Given the description of an element on the screen output the (x, y) to click on. 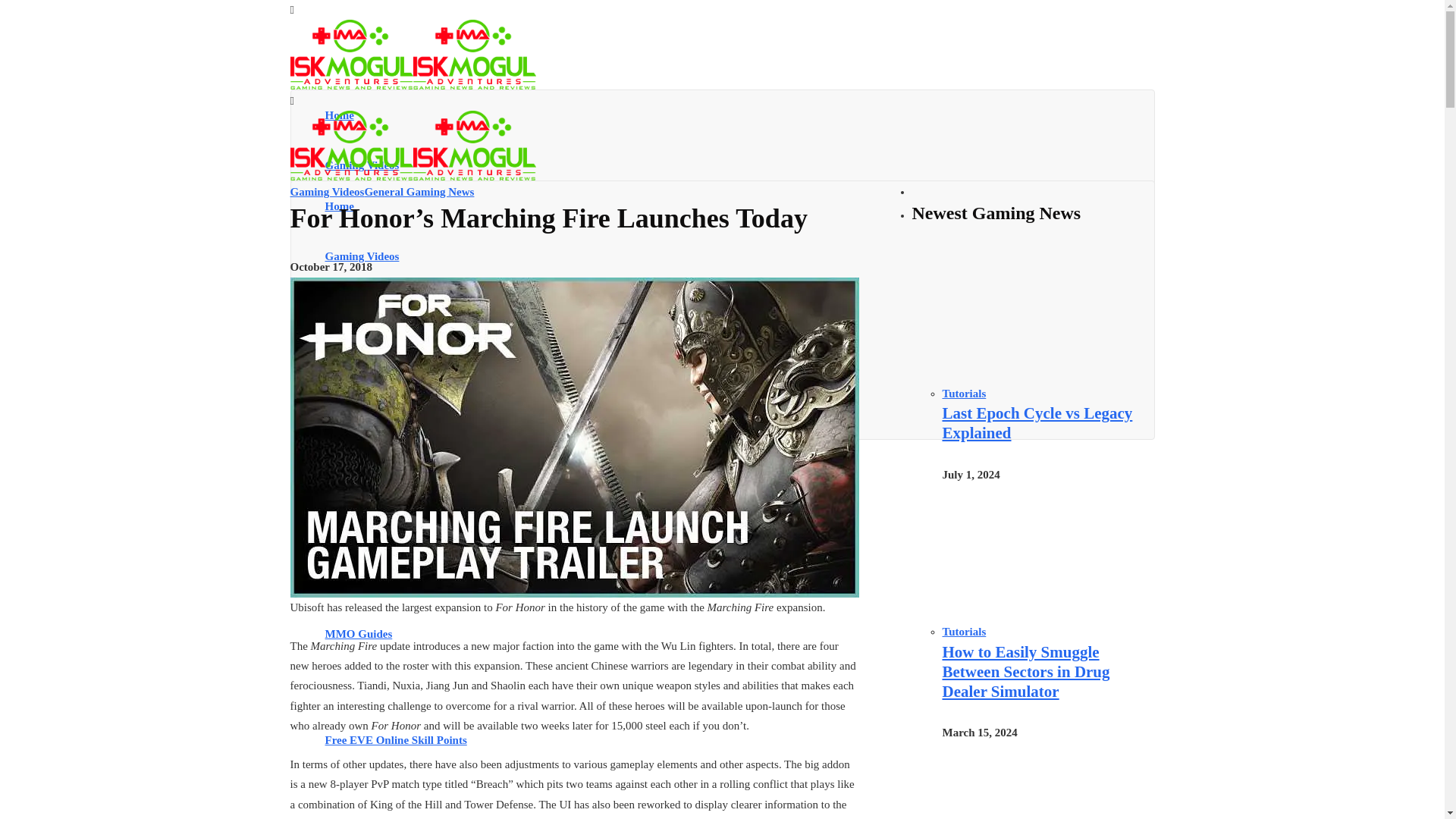
Gaming News (735, 265)
MMO Guides (735, 542)
POE News (735, 306)
POE News (735, 216)
Gaming News (735, 356)
Search (506, 400)
Gaming Videos (735, 165)
Free EVE Online Skill Points (735, 739)
Gaming Videos (735, 256)
Search (506, 491)
